Given the description of an element on the screen output the (x, y) to click on. 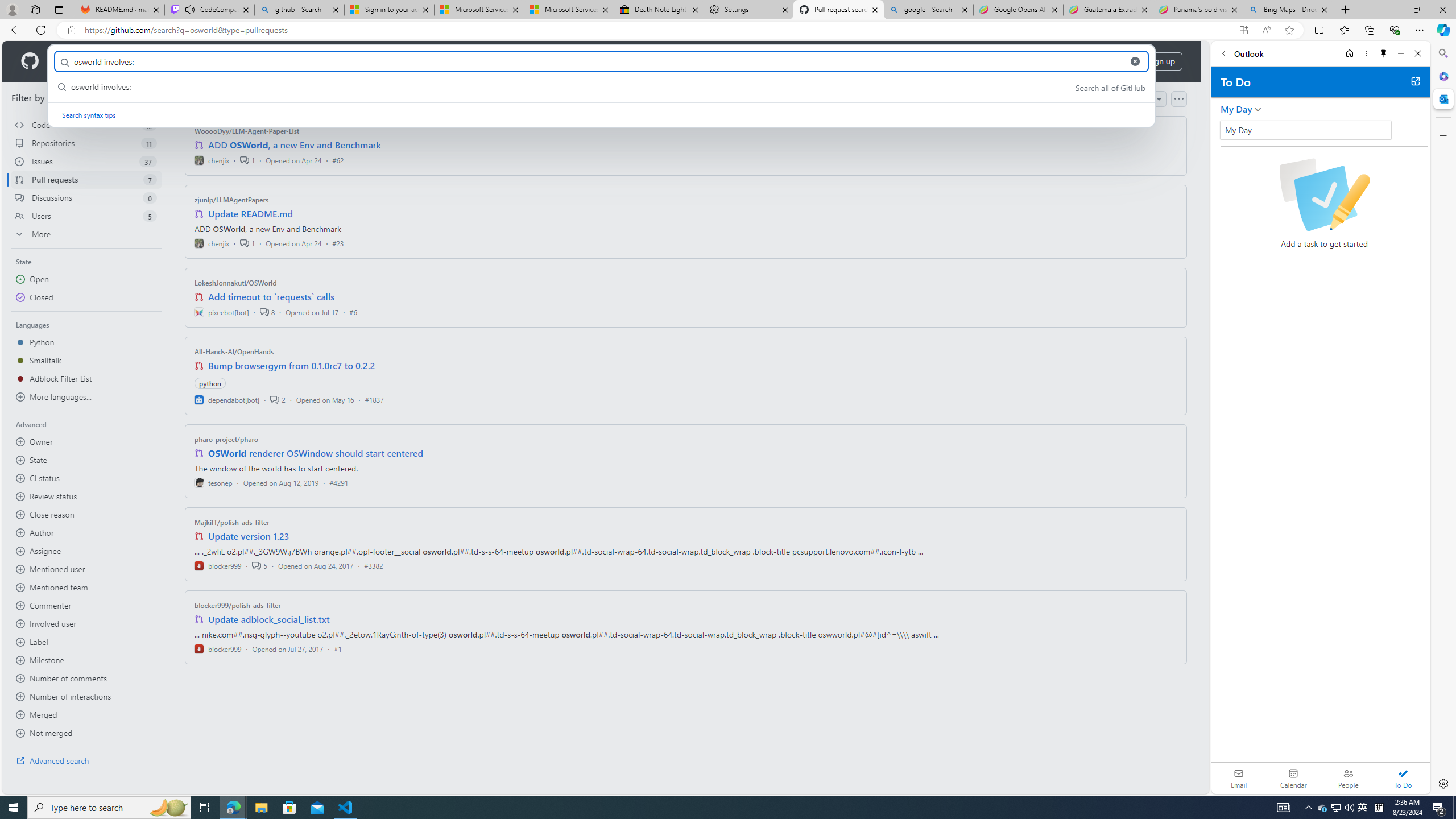
Open in new tab (1414, 80)
Pricing (368, 60)
#4291 (338, 482)
Draggable pane splitter (169, 427)
blocker999/polish-ads-filter (238, 605)
#62 (337, 159)
Enterprise (319, 60)
Solutions (128, 60)
Sign in to your account (389, 9)
